Given the description of an element on the screen output the (x, y) to click on. 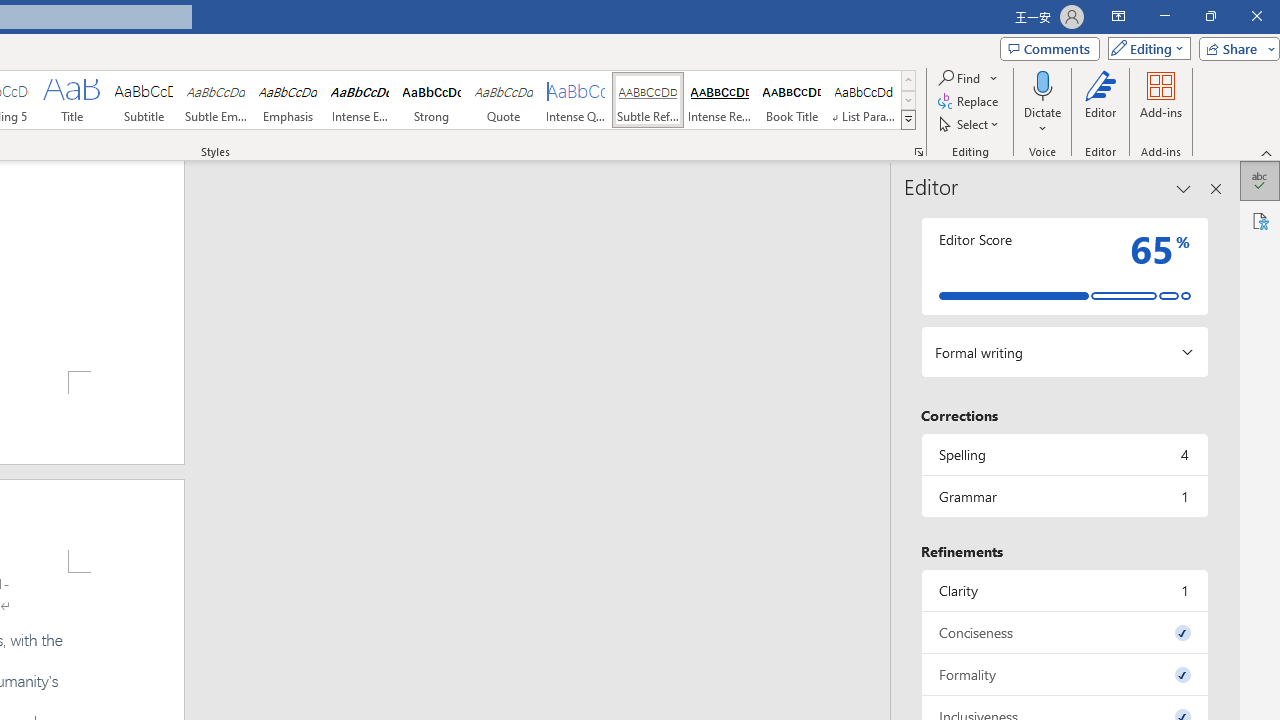
Spelling, 4 issues. Press space or enter to review items. (1064, 454)
